Given the description of an element on the screen output the (x, y) to click on. 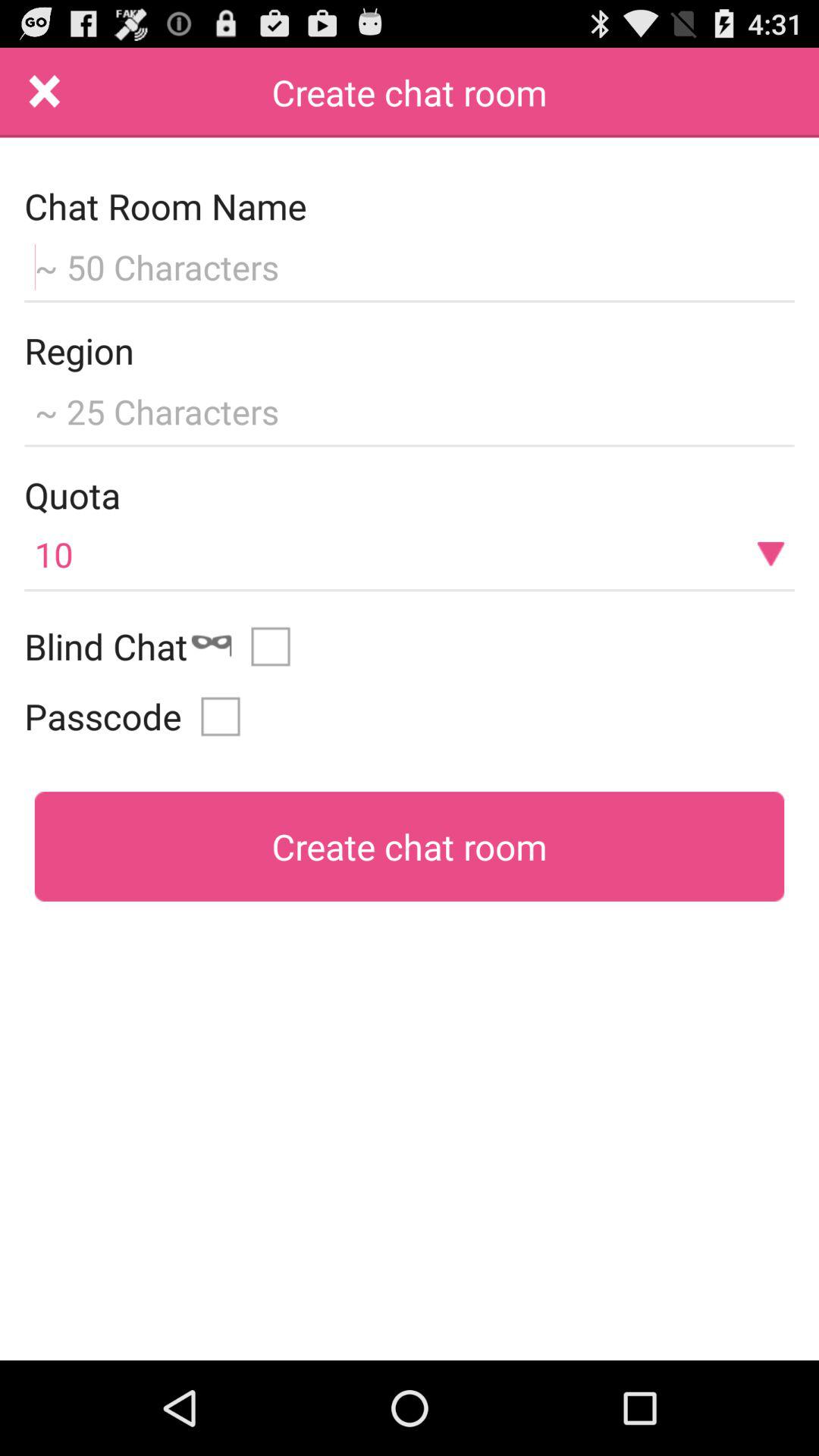
press item below the quota icon (409, 554)
